Given the description of an element on the screen output the (x, y) to click on. 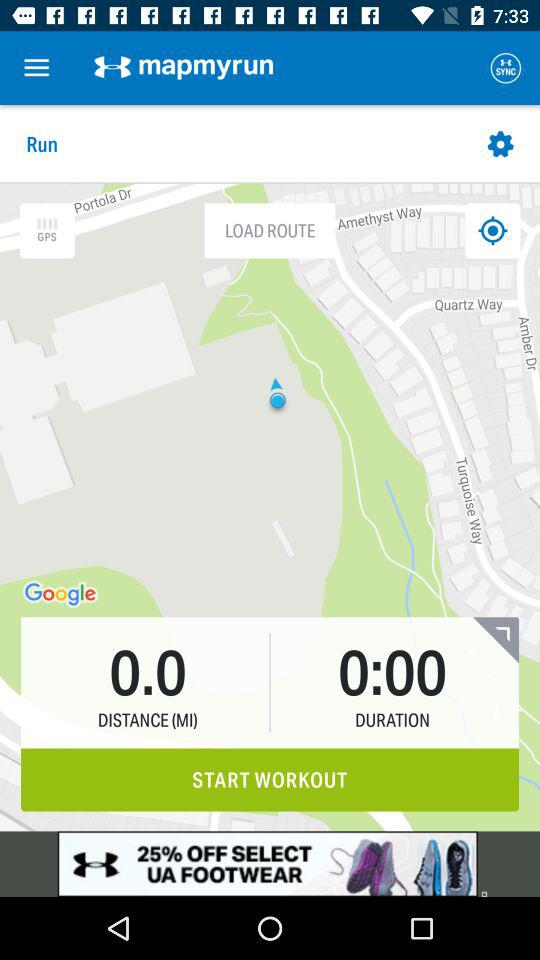
expand the item (495, 640)
